Given the description of an element on the screen output the (x, y) to click on. 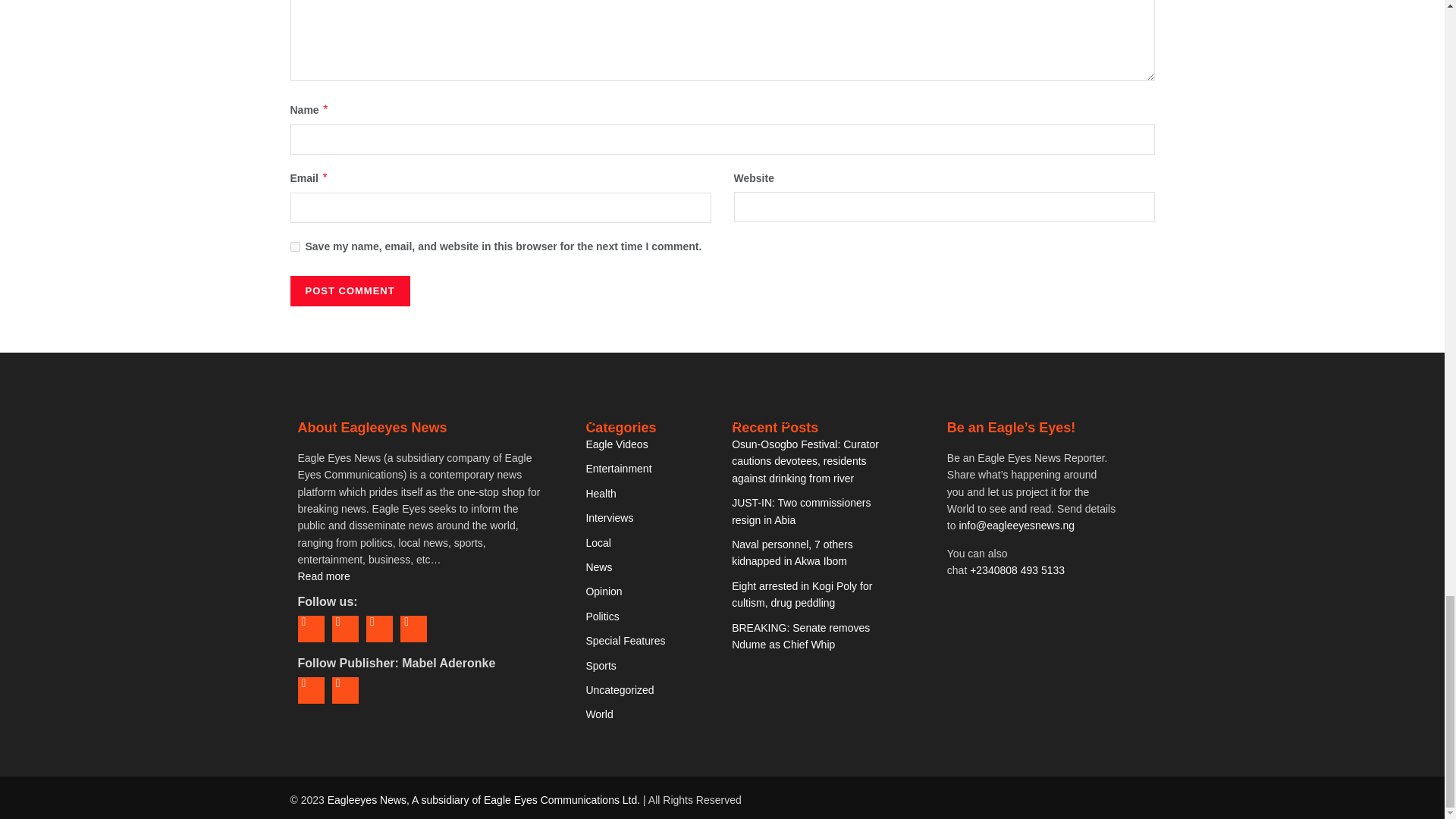
Eagleeyes News (483, 799)
yes (294, 246)
Post Comment (349, 291)
